Given the description of an element on the screen output the (x, y) to click on. 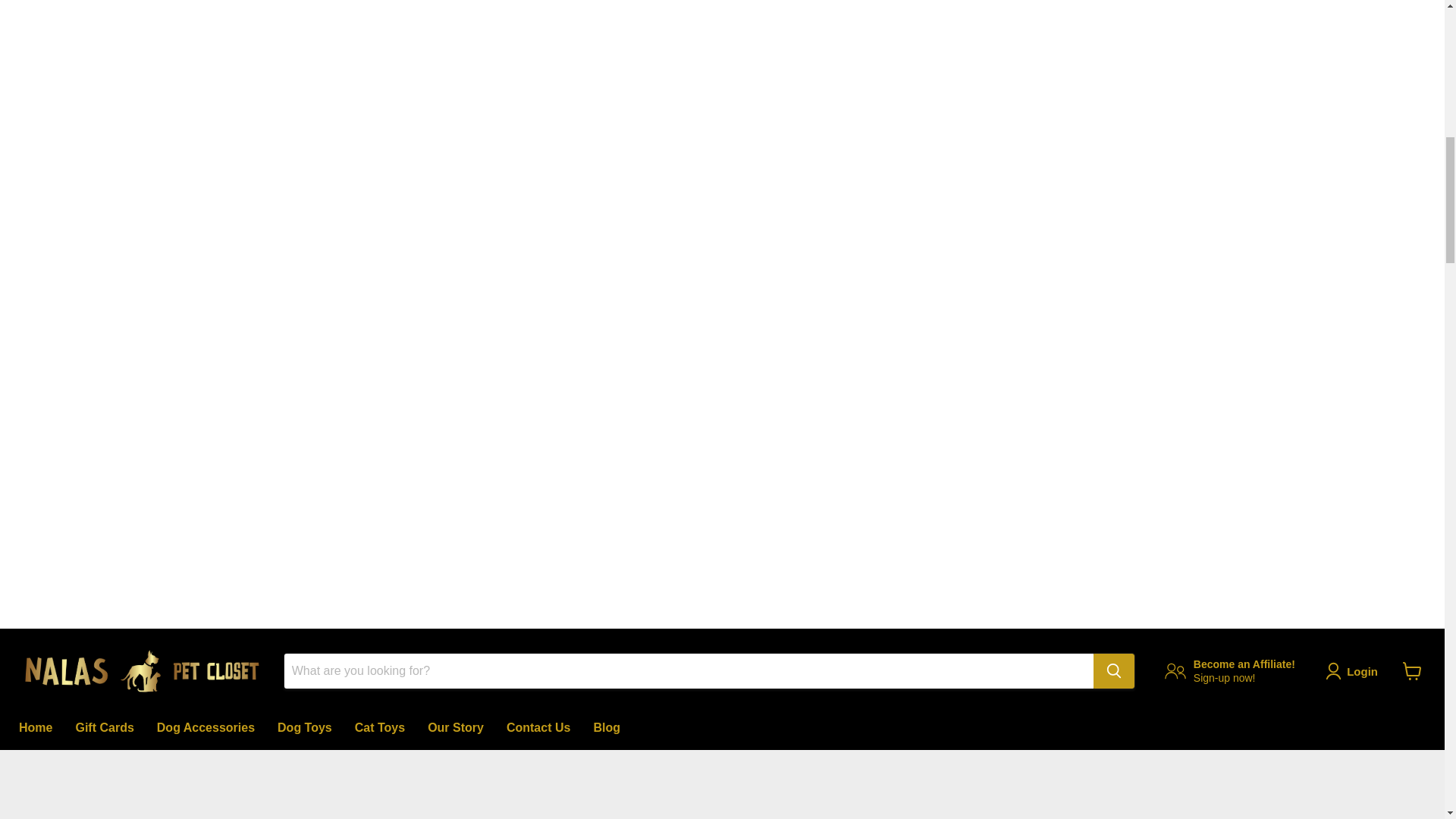
Gift Cards (104, 727)
Login (1229, 670)
Our Story (1354, 670)
Blog (455, 727)
Dog Accessories (605, 727)
Contact Us (205, 727)
Home (537, 727)
Dog Toys (35, 727)
View cart (304, 727)
